Given the description of an element on the screen output the (x, y) to click on. 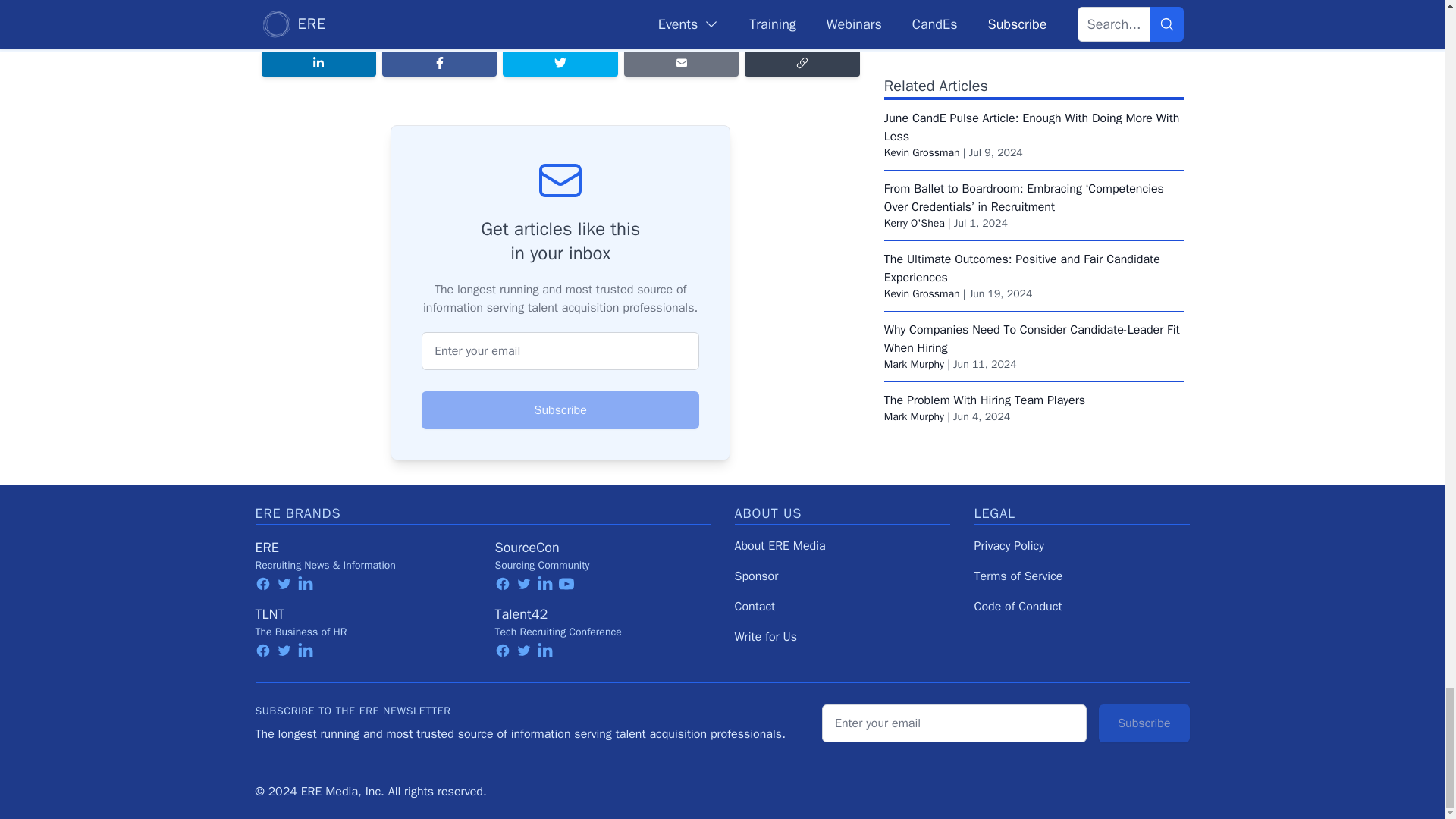
ERE (266, 547)
facebook (261, 583)
Subscribe (560, 410)
twitter (283, 583)
